Given the description of an element on the screen output the (x, y) to click on. 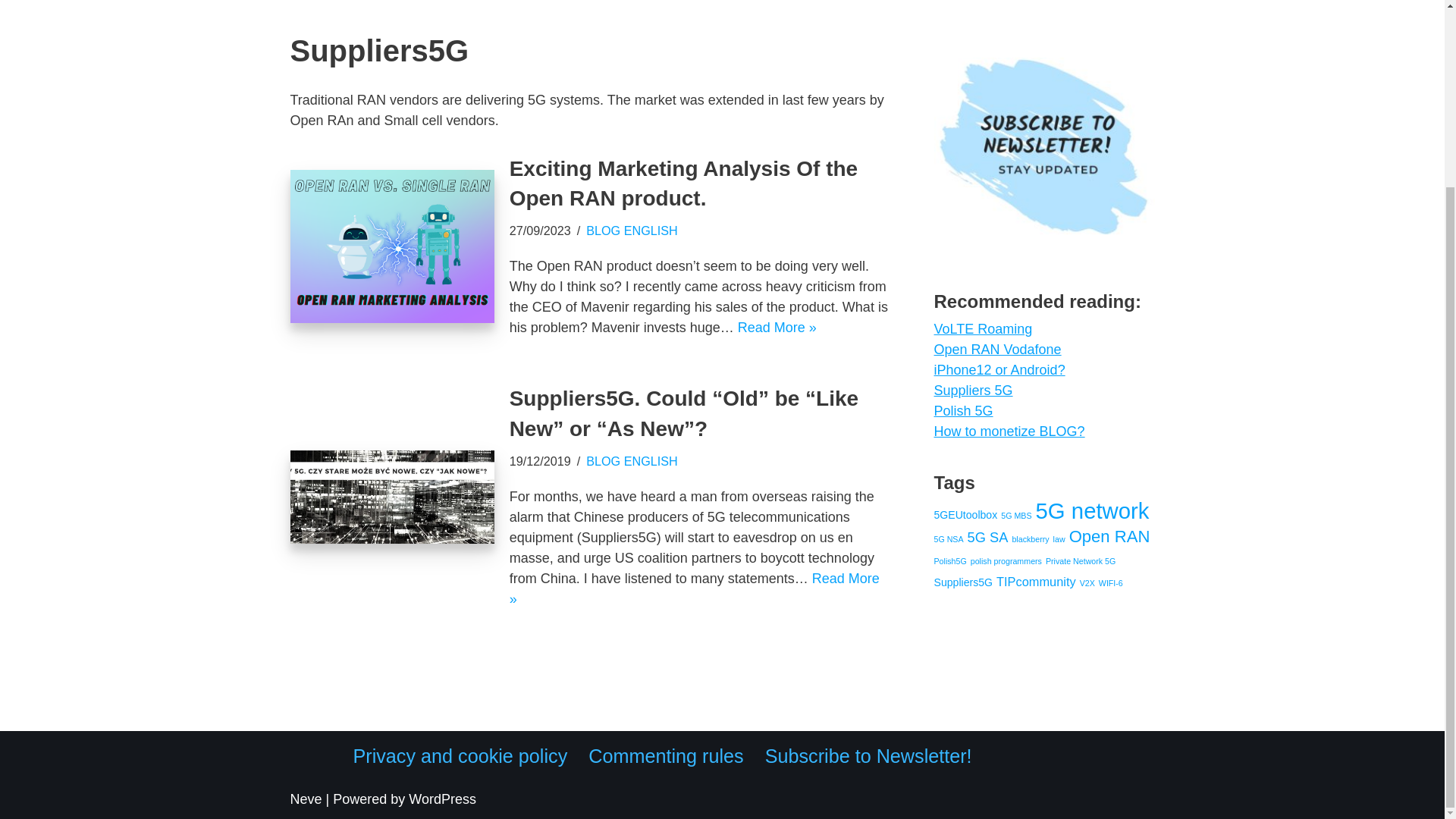
BLOG ENGLISH (632, 230)
iPhone12 or Android? (999, 369)
Open RAN Vodafone (997, 349)
Exciting Marketing Analysis Of the Open RAN product. (391, 245)
Suppliers 5G (973, 390)
VoLTE Roaming (983, 328)
BLOG ENGLISH (632, 460)
Exciting Marketing Analysis Of the Open RAN product. (684, 183)
